Given the description of an element on the screen output the (x, y) to click on. 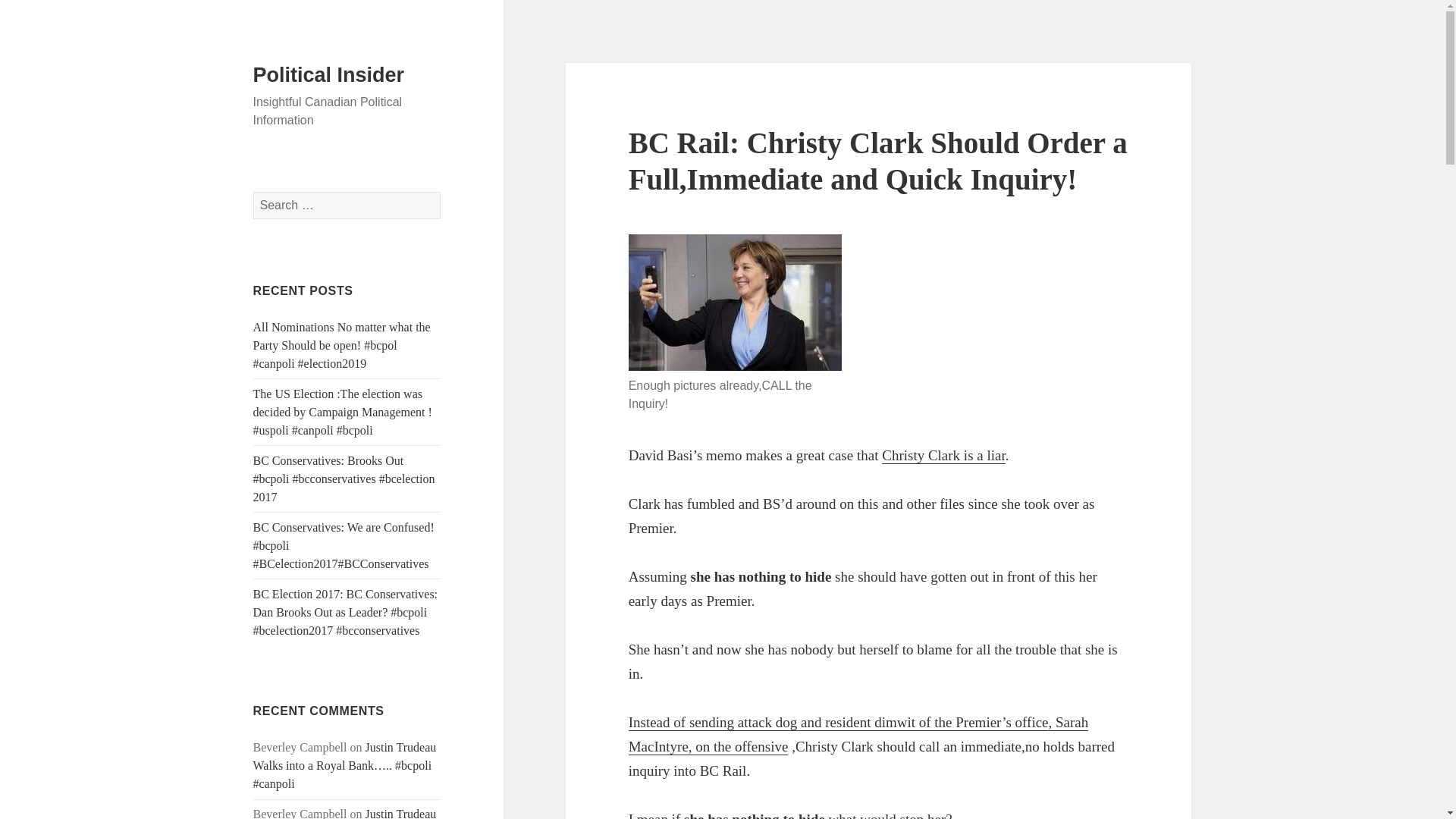
Political Insider (328, 74)
